Given the description of an element on the screen output the (x, y) to click on. 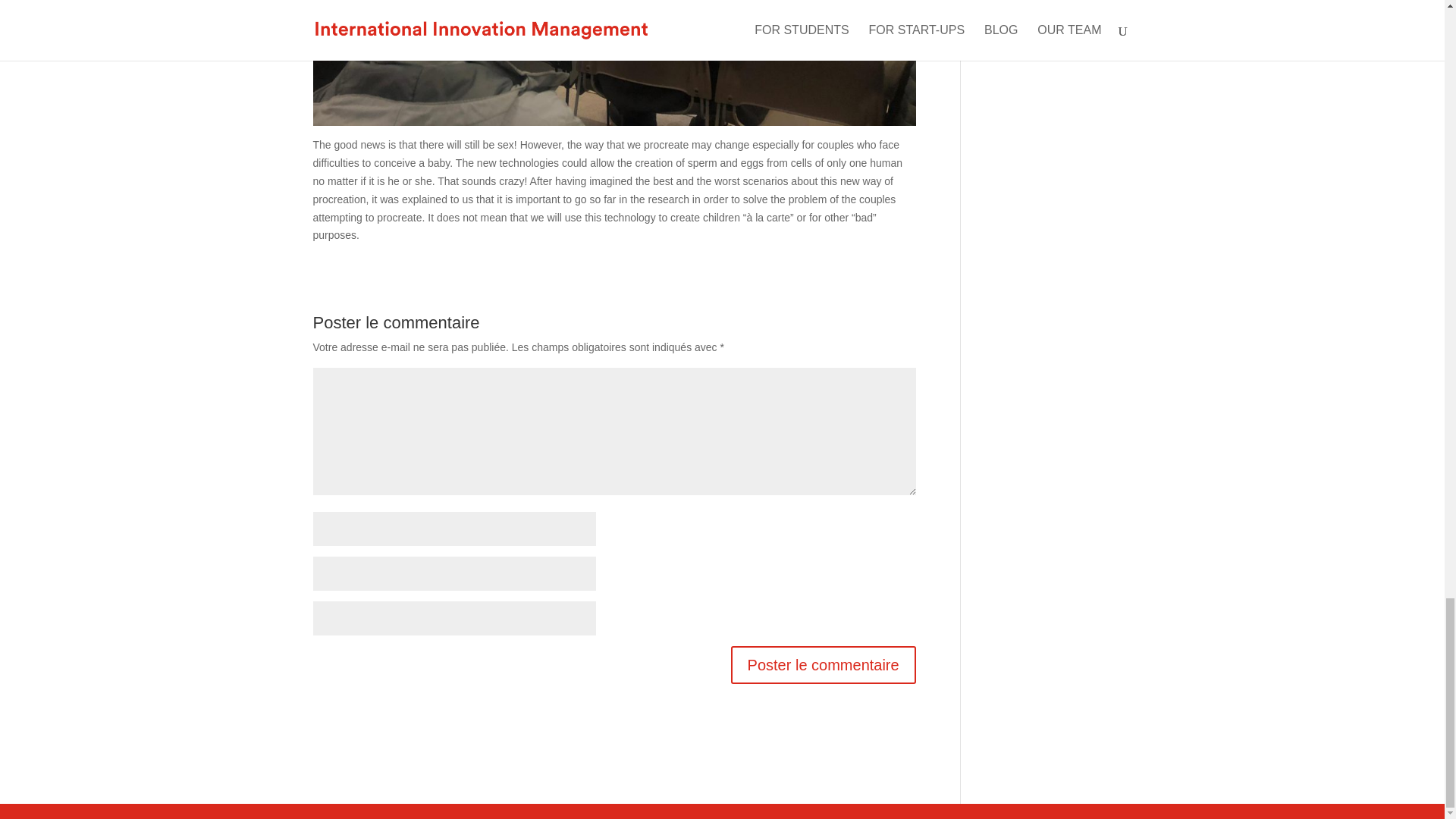
Poster le commentaire (822, 664)
Poster le commentaire (822, 664)
